Given the description of an element on the screen output the (x, y) to click on. 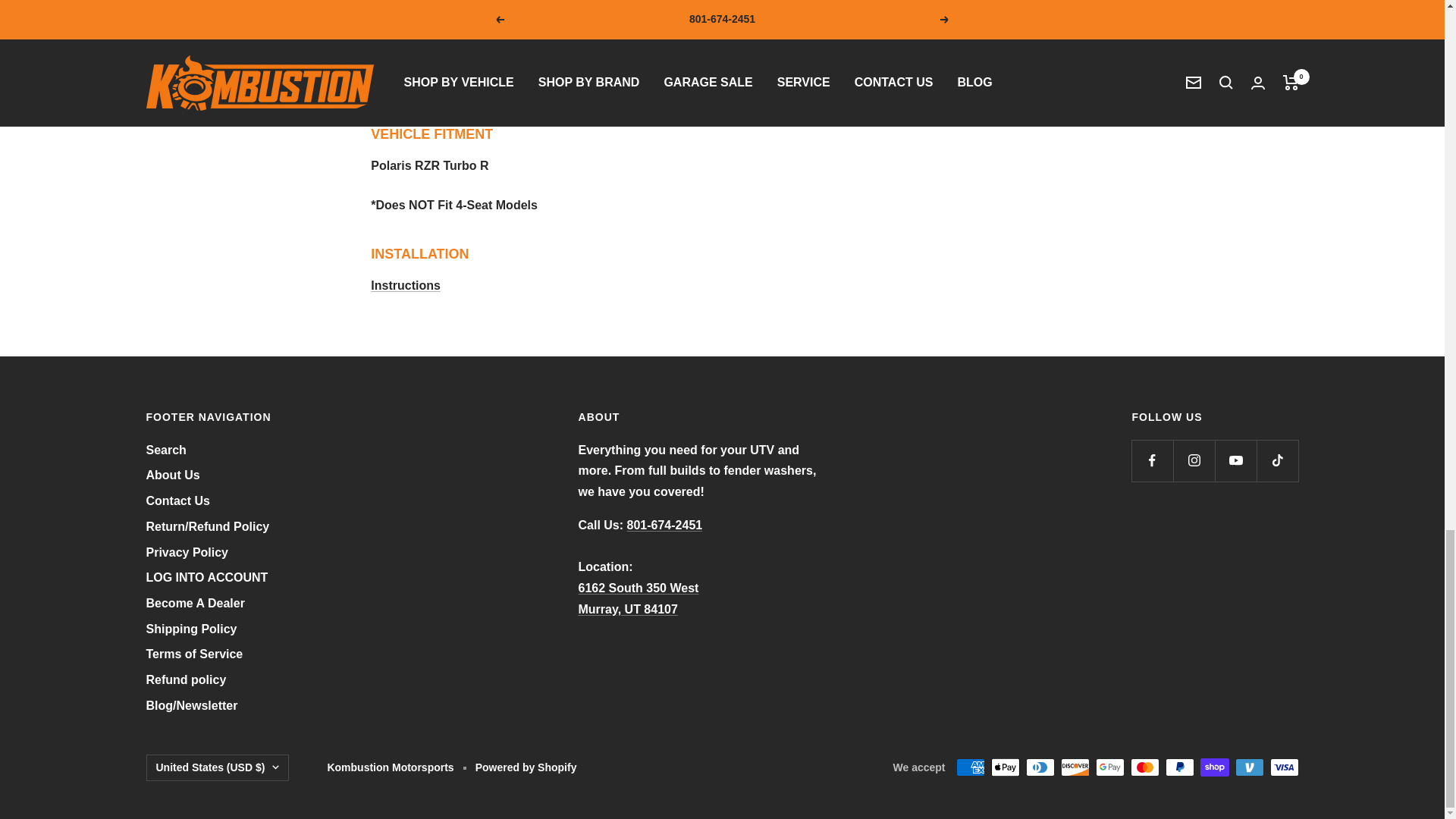
tel:8016742451 (665, 524)
Kombustion Motorsports Address (638, 598)
